Given the description of an element on the screen output the (x, y) to click on. 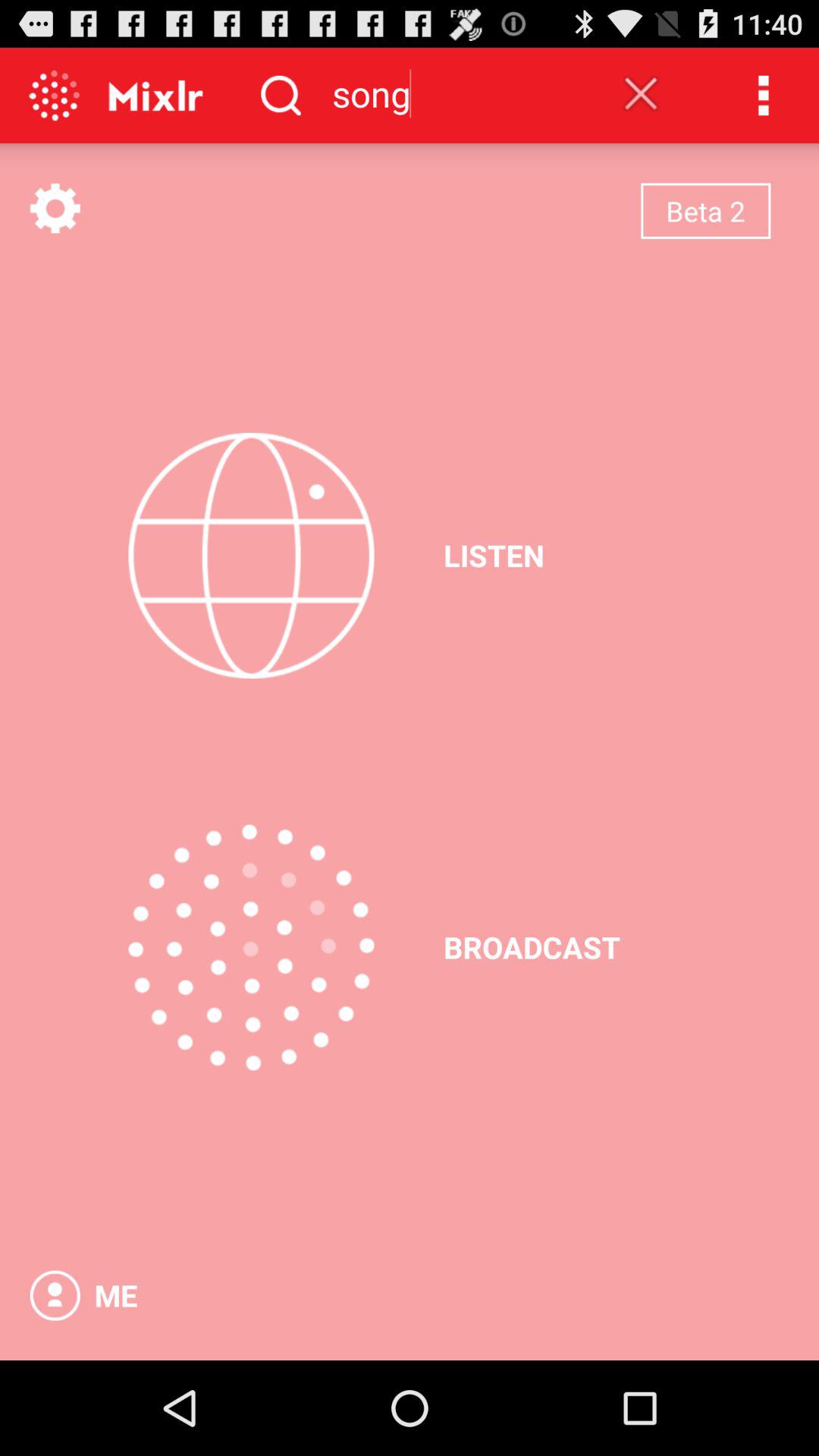
turn off the item to the right of the song (640, 93)
